Given the description of an element on the screen output the (x, y) to click on. 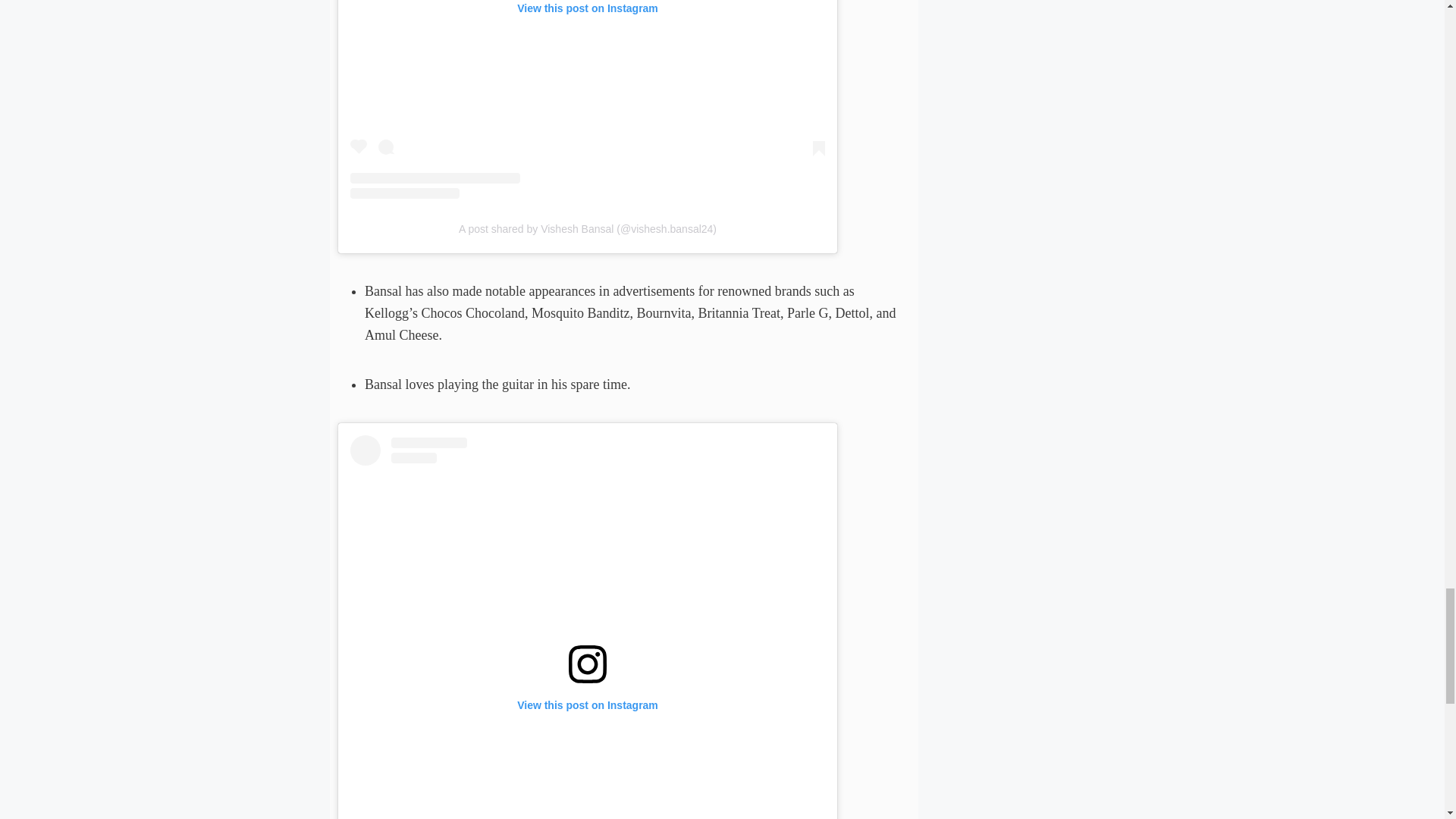
View this post on Instagram (587, 99)
